Given the description of an element on the screen output the (x, y) to click on. 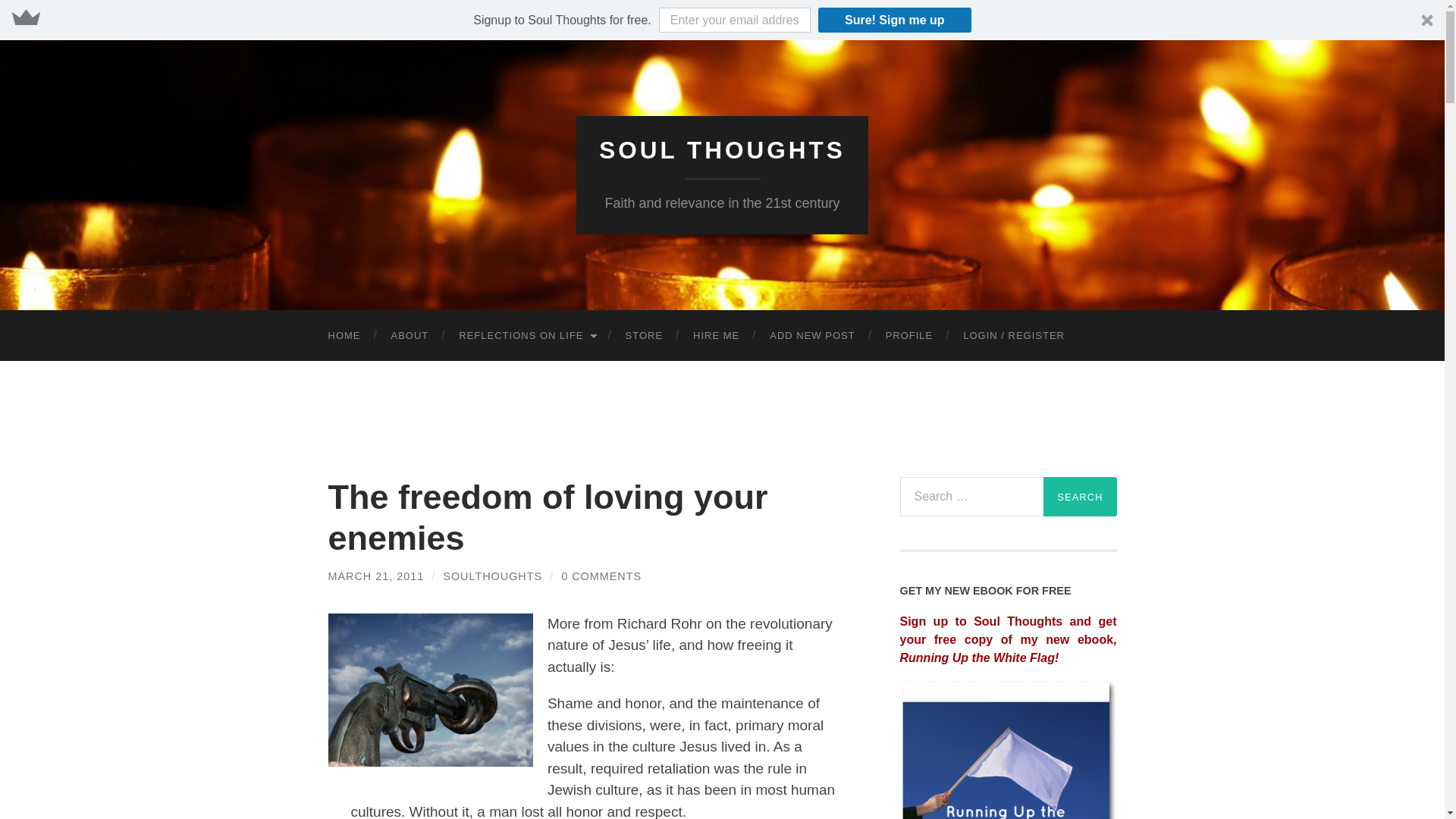
PROFILE (909, 335)
Posts by soulthoughts (491, 576)
HOME (344, 335)
REFLECTIONS ON LIFE (527, 335)
ADD NEW POST (811, 335)
MARCH 21, 2011 (375, 576)
0 COMMENTS (601, 576)
ABOUT (409, 335)
Photo by Francois Polito (429, 690)
SOULTHOUGHTS (491, 576)
Search (1079, 496)
Sure! Sign me up (894, 19)
SOUL THOUGHTS (721, 149)
Search (1079, 496)
STORE (644, 335)
